Given the description of an element on the screen output the (x, y) to click on. 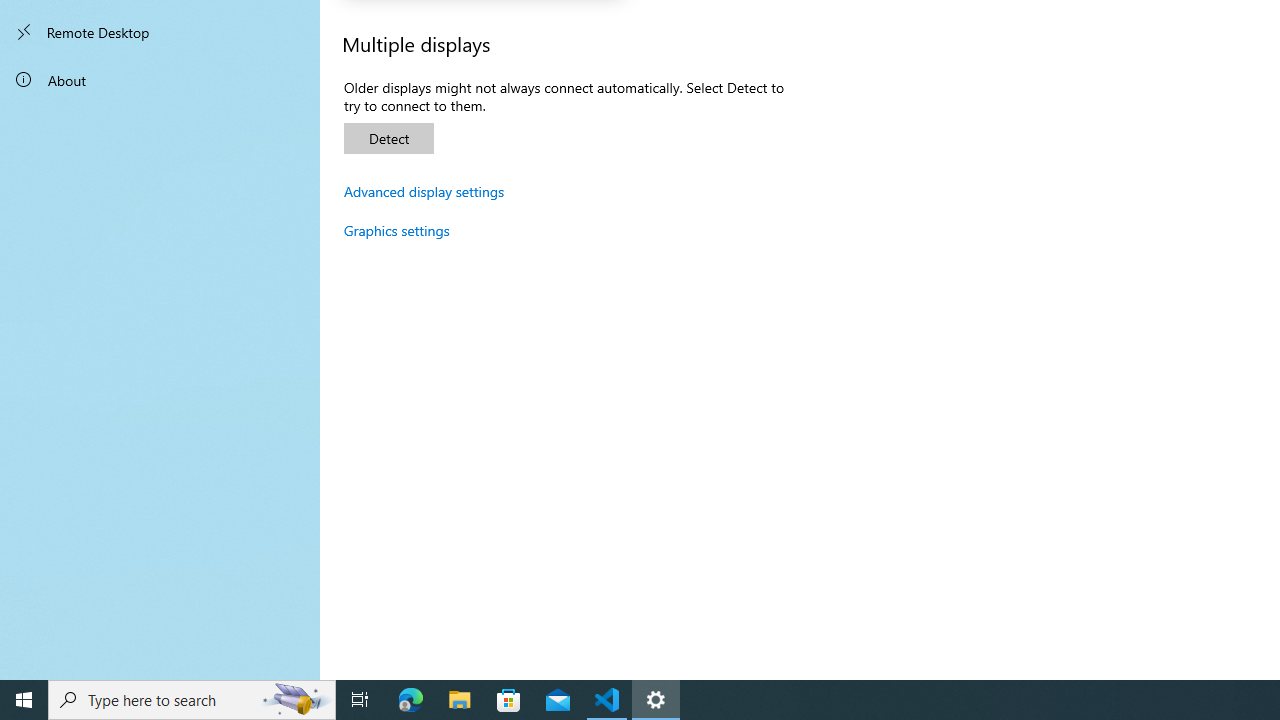
About (160, 79)
Graphics settings (397, 230)
Detect (388, 138)
Remote Desktop (160, 31)
Advanced display settings (424, 191)
